Given the description of an element on the screen output the (x, y) to click on. 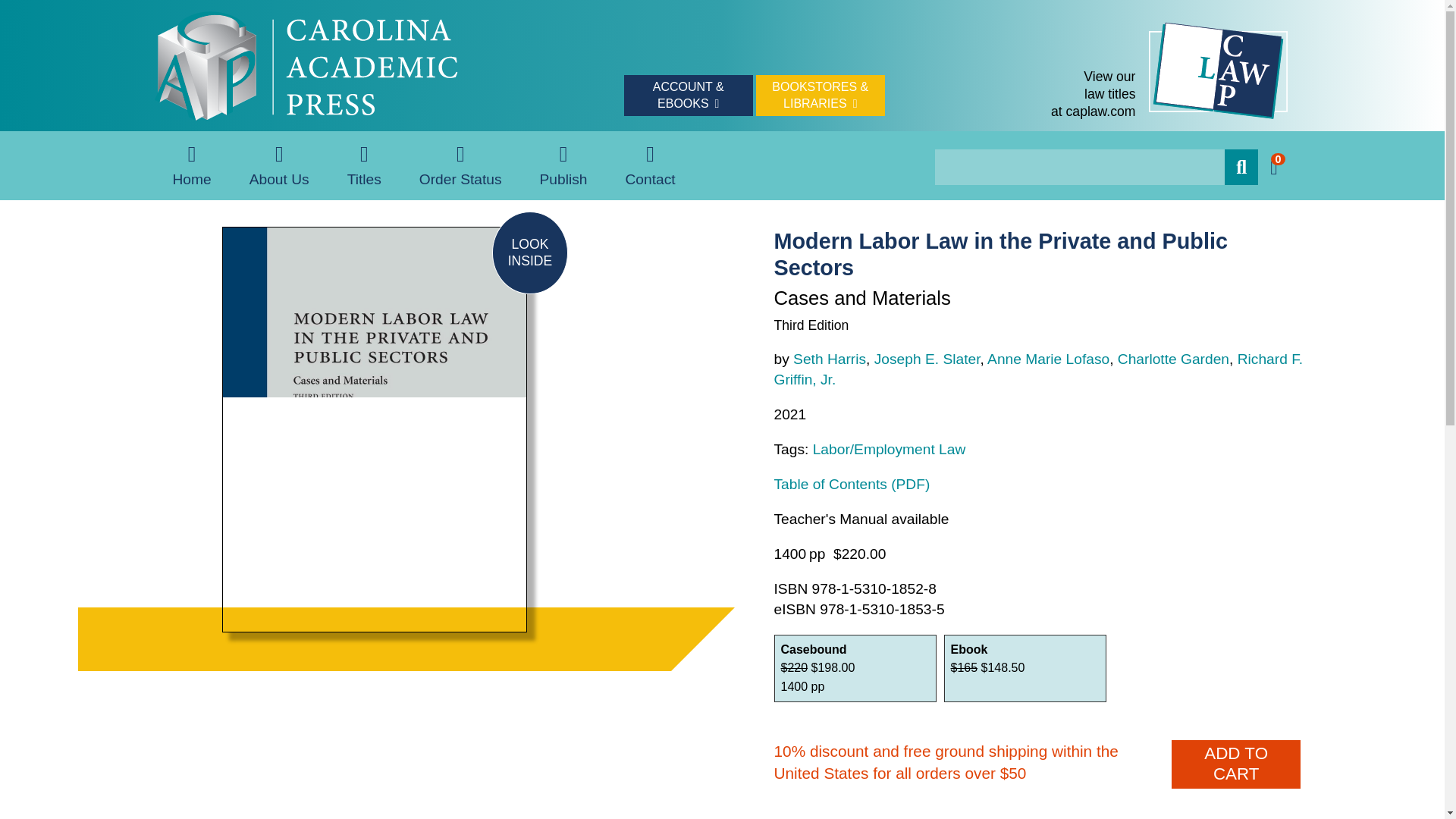
Order Status (460, 165)
Publish (564, 165)
Home (191, 165)
Richard F. Griffin, Jr. (1038, 369)
Seth Harris (829, 358)
Contact (649, 165)
About Us (279, 165)
Joseph E. Slater (927, 358)
Charlotte Garden (1173, 358)
Anne Marie Lofaso (1048, 358)
Titles (529, 252)
caplaw.com (364, 165)
